Given the description of an element on the screen output the (x, y) to click on. 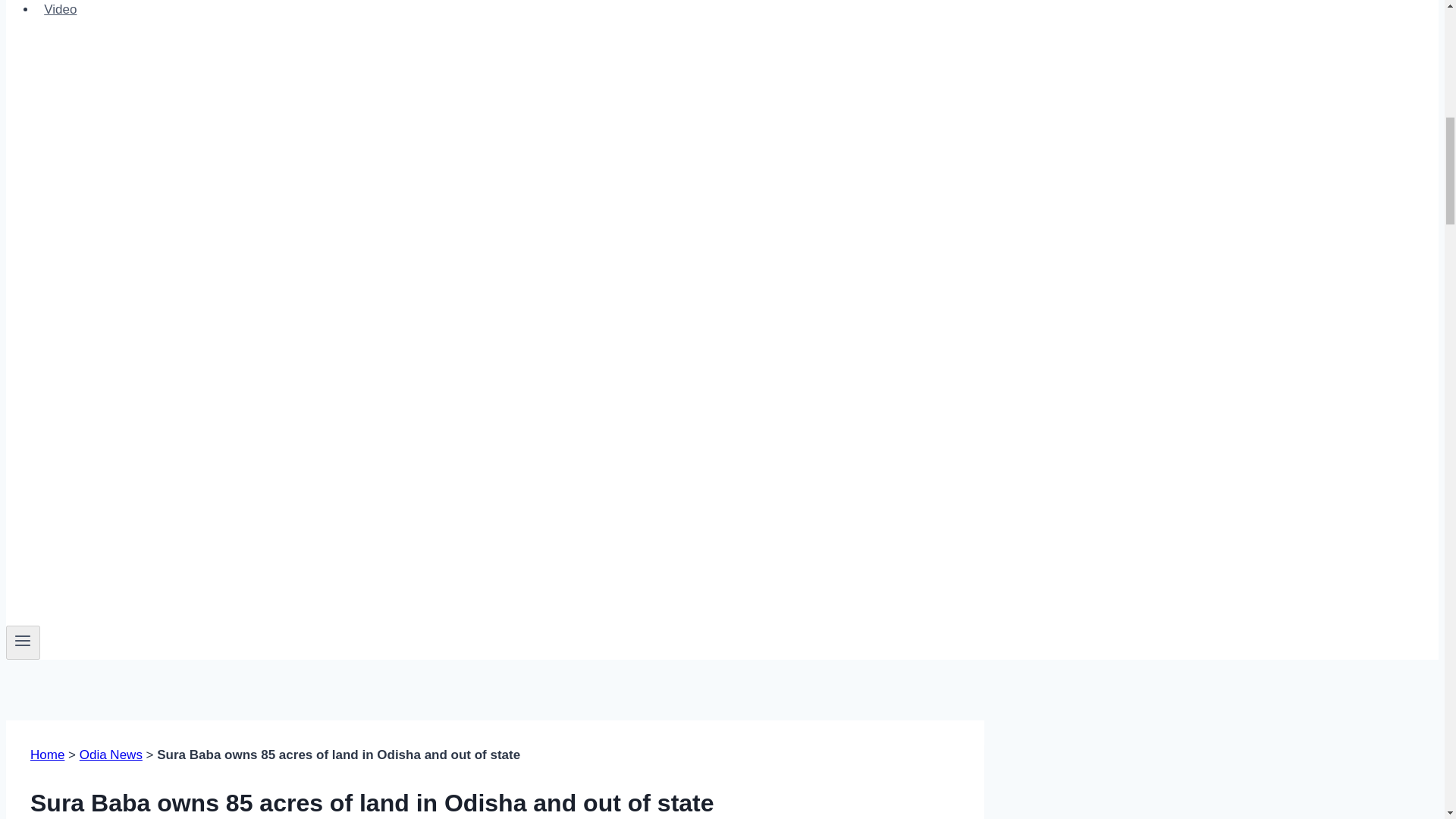
Toggle Menu (22, 640)
Video (60, 12)
Photos (63, 2)
Odia News (111, 754)
Toggle Menu (22, 642)
Home (47, 754)
